Given the description of an element on the screen output the (x, y) to click on. 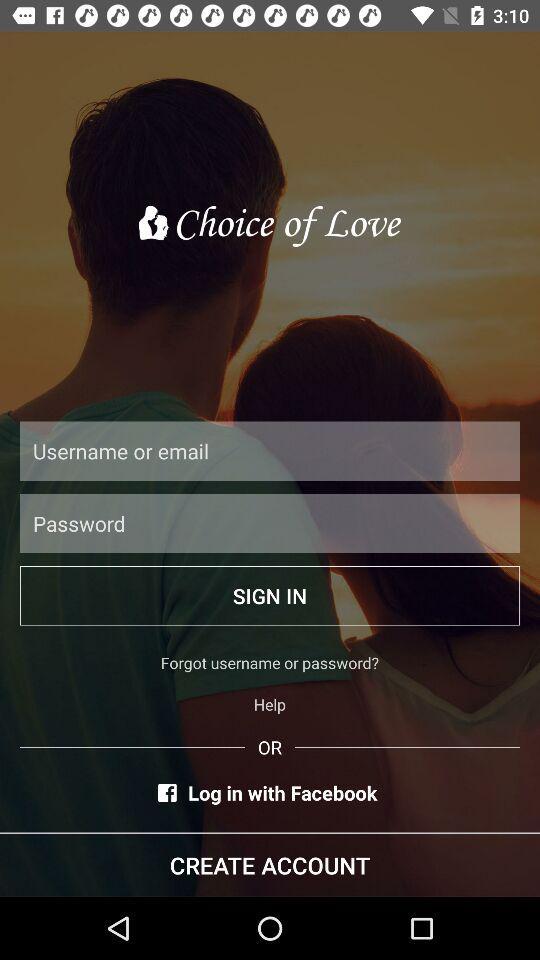
click the help item (269, 703)
